Given the description of an element on the screen output the (x, y) to click on. 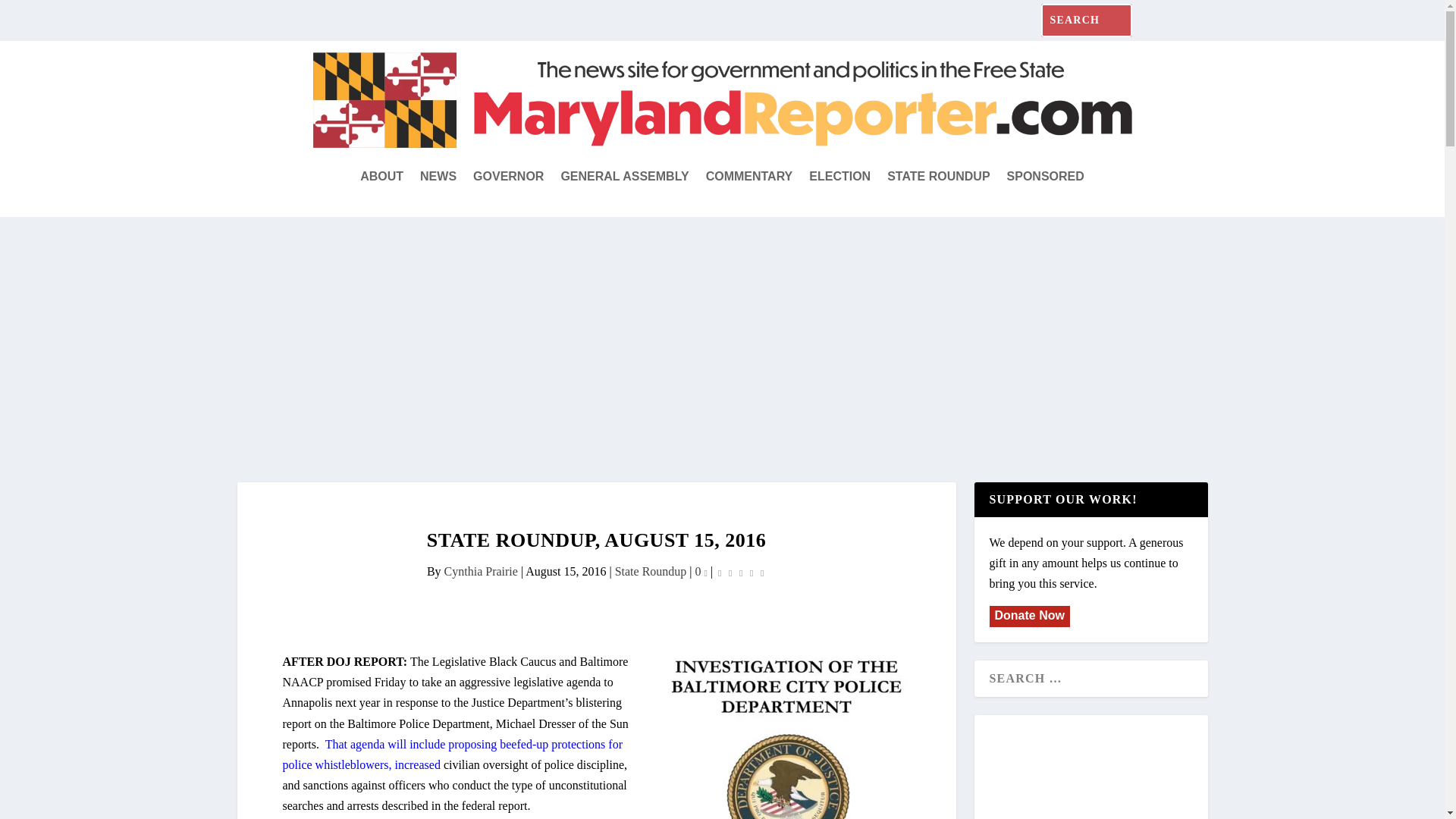
SPONSORED (1045, 176)
Cynthia Prairie (481, 571)
State Roundup (650, 571)
ELECTION (839, 176)
STATE ROUNDUP (938, 176)
COMMENTARY (749, 176)
GOVERNOR (508, 176)
GENERAL ASSEMBLY (624, 176)
Rating: 0.00 (740, 572)
Posts by Cynthia Prairie (481, 571)
0 (701, 571)
Search (29, 16)
